Given the description of an element on the screen output the (x, y) to click on. 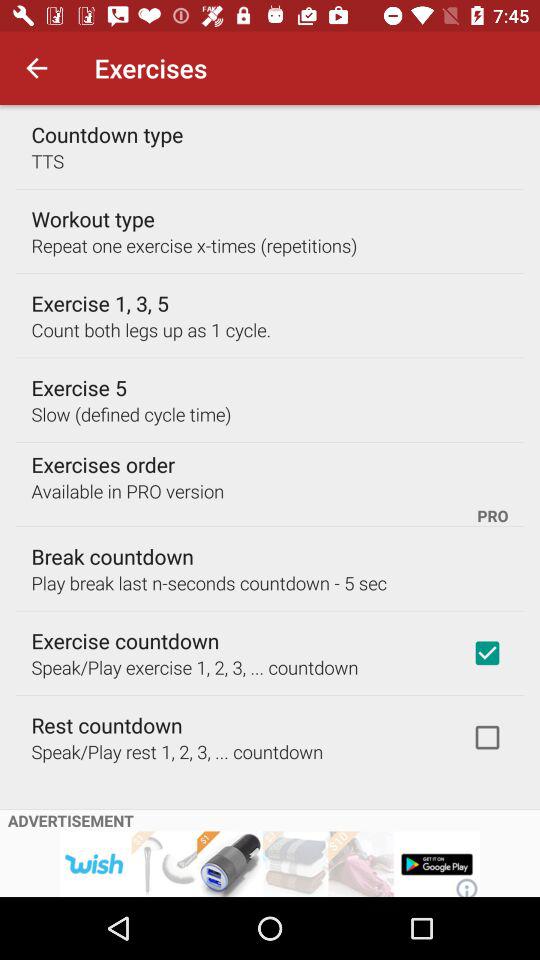
go to mark option (487, 737)
